Given the description of an element on the screen output the (x, y) to click on. 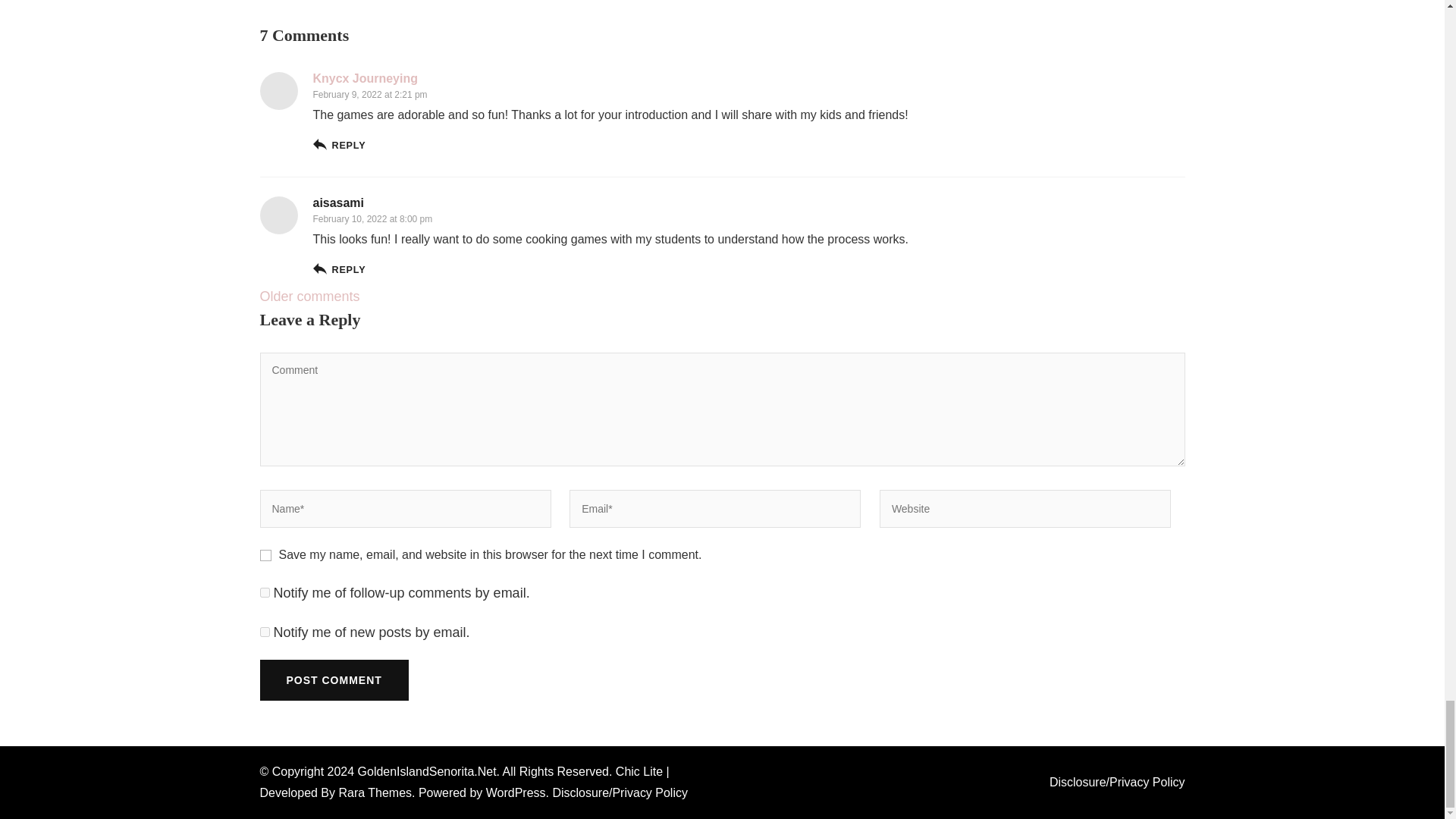
Post Comment (333, 680)
subscribe (264, 632)
subscribe (264, 592)
